Given the description of an element on the screen output the (x, y) to click on. 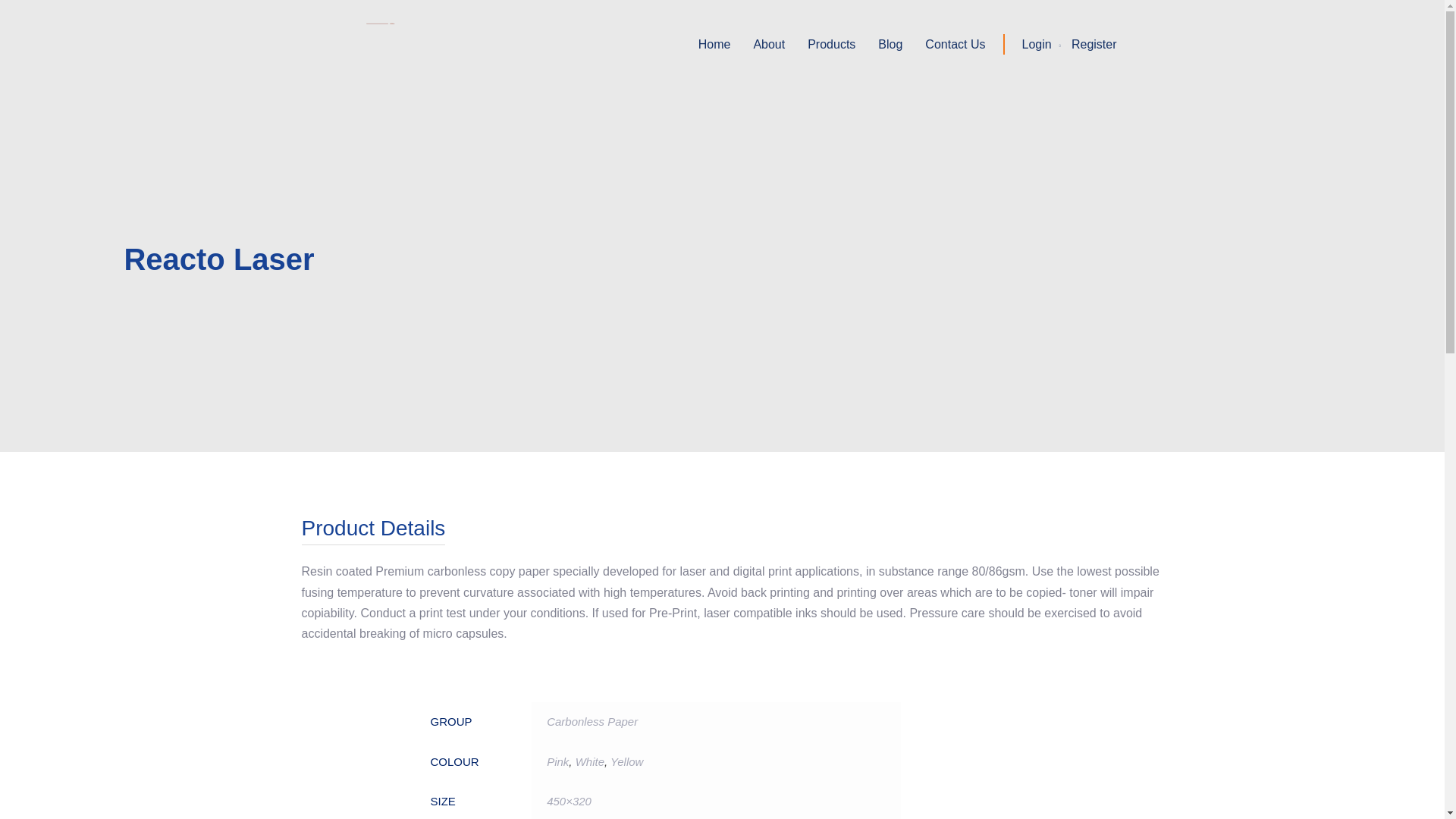
Yellow (626, 761)
Pink (558, 761)
White (589, 761)
Carbonless Paper (592, 721)
Login (1036, 43)
Register (1093, 43)
Contact Us (954, 44)
